Given the description of an element on the screen output the (x, y) to click on. 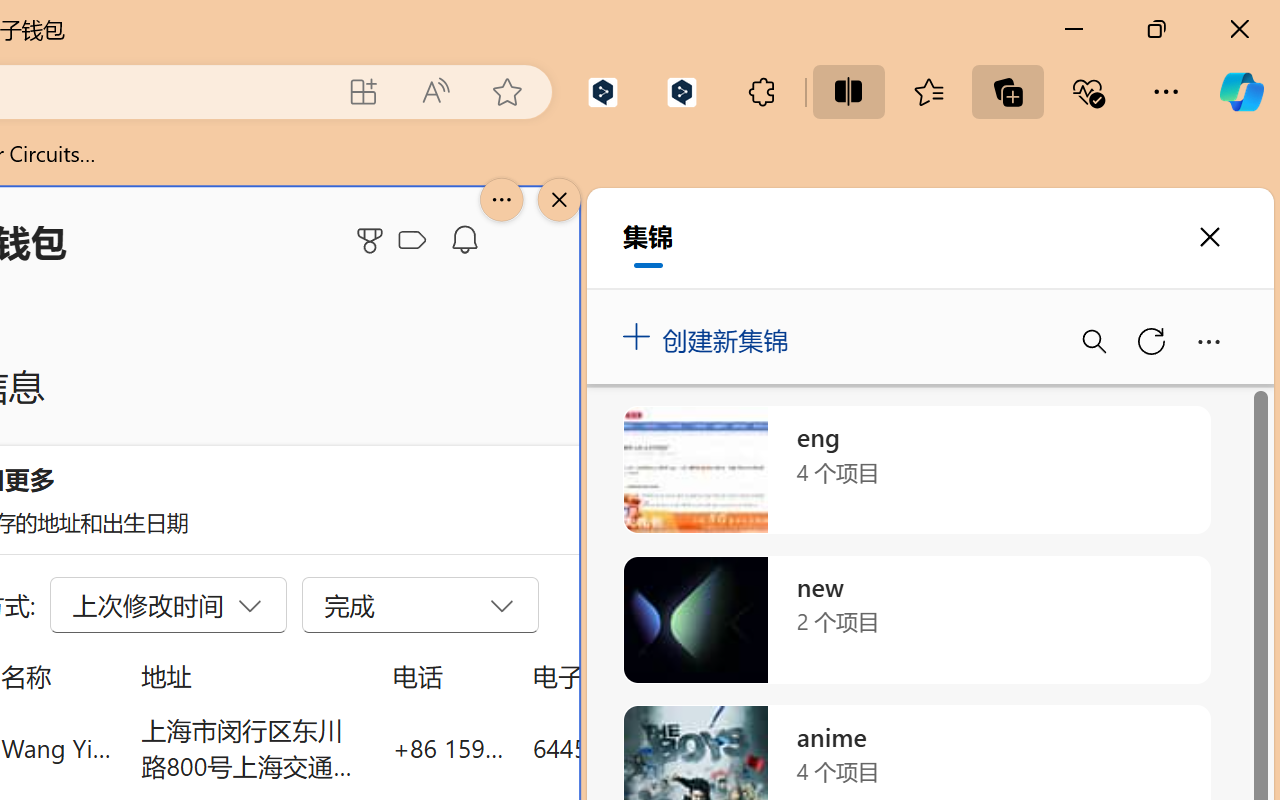
+86 159 0032 4640 (447, 747)
Microsoft Cashback (415, 241)
Class: ___1lmltc5 f1agt3bx f12qytpq (411, 241)
